Given the description of an element on the screen output the (x, y) to click on. 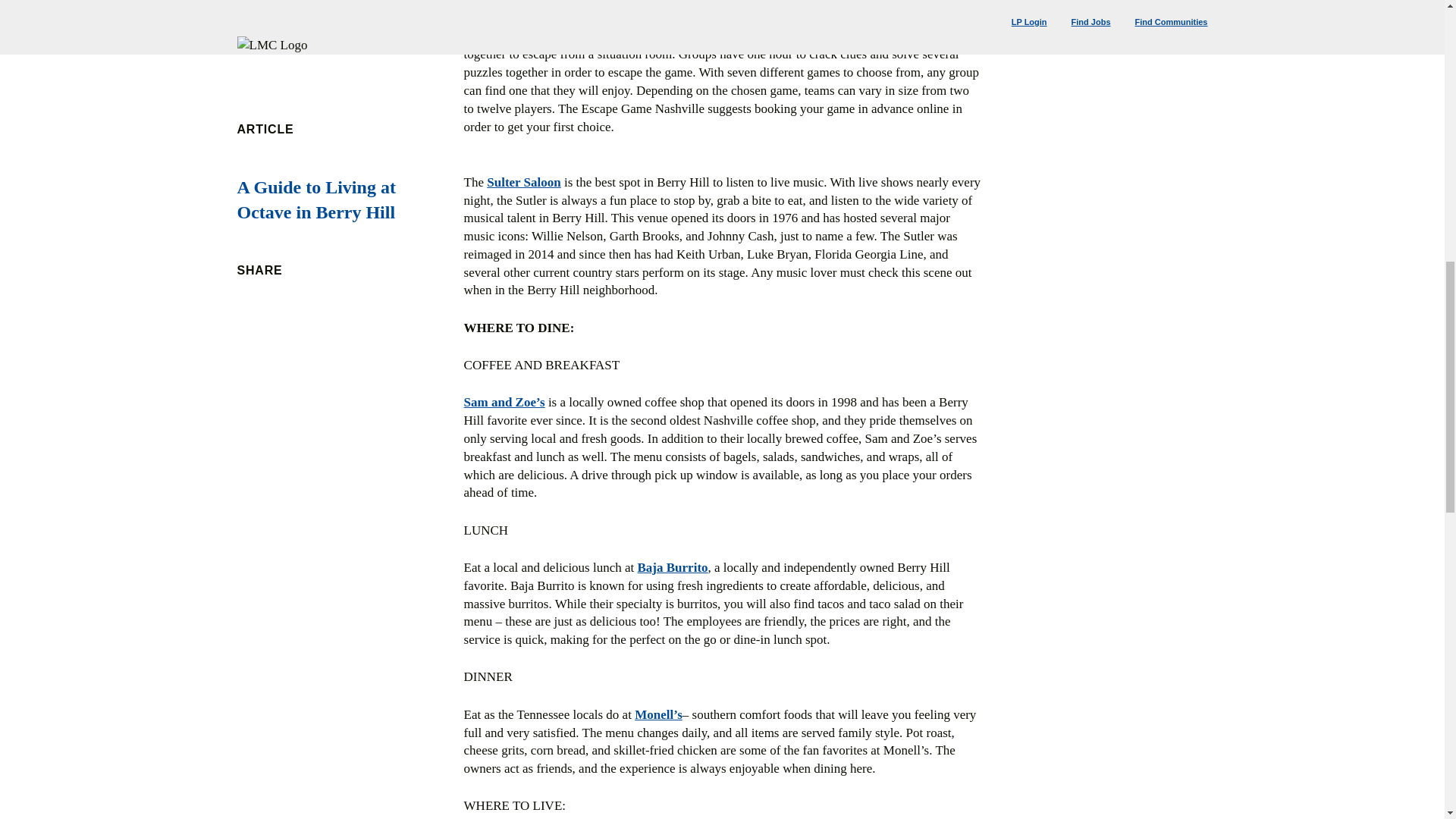
Baja Burrito (672, 567)
Sulter Saloon (523, 182)
The Escape Game (513, 36)
